Given the description of an element on the screen output the (x, y) to click on. 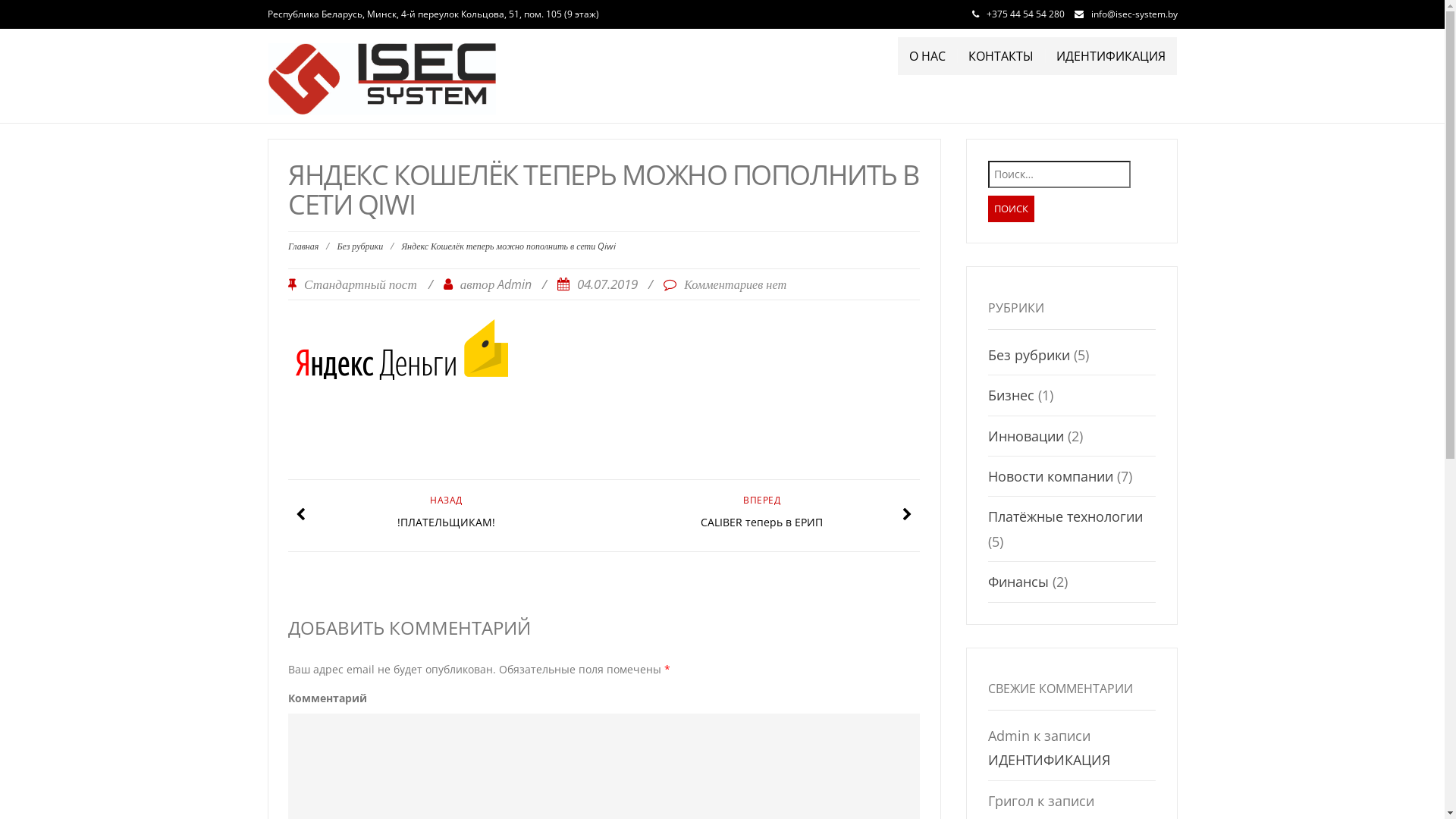
Admin Element type: text (514, 284)
info@isec-system.by Element type: text (1133, 13)
